Given the description of an element on the screen output the (x, y) to click on. 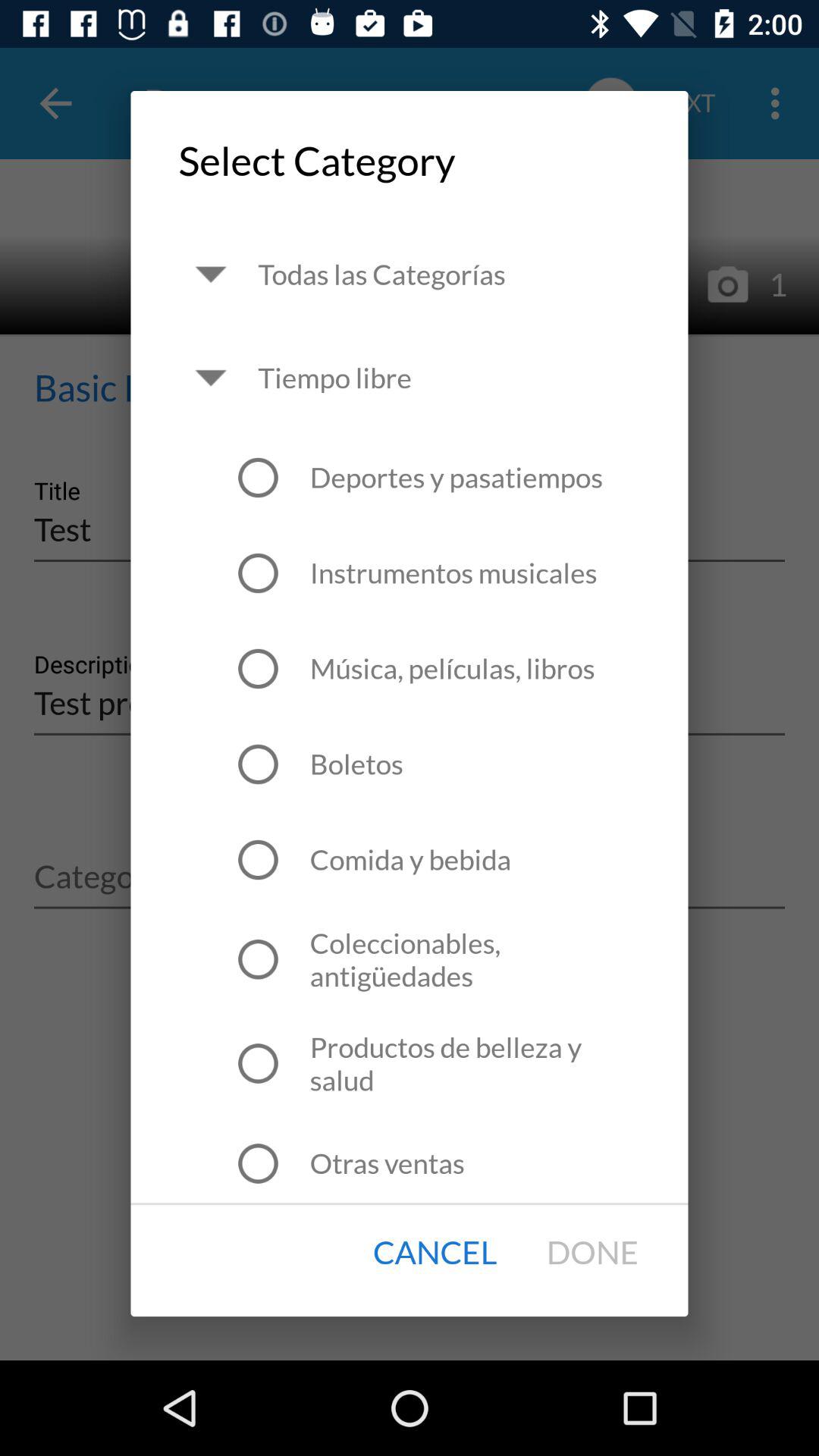
tap icon below tiempo libre icon (455, 477)
